Given the description of an element on the screen output the (x, y) to click on. 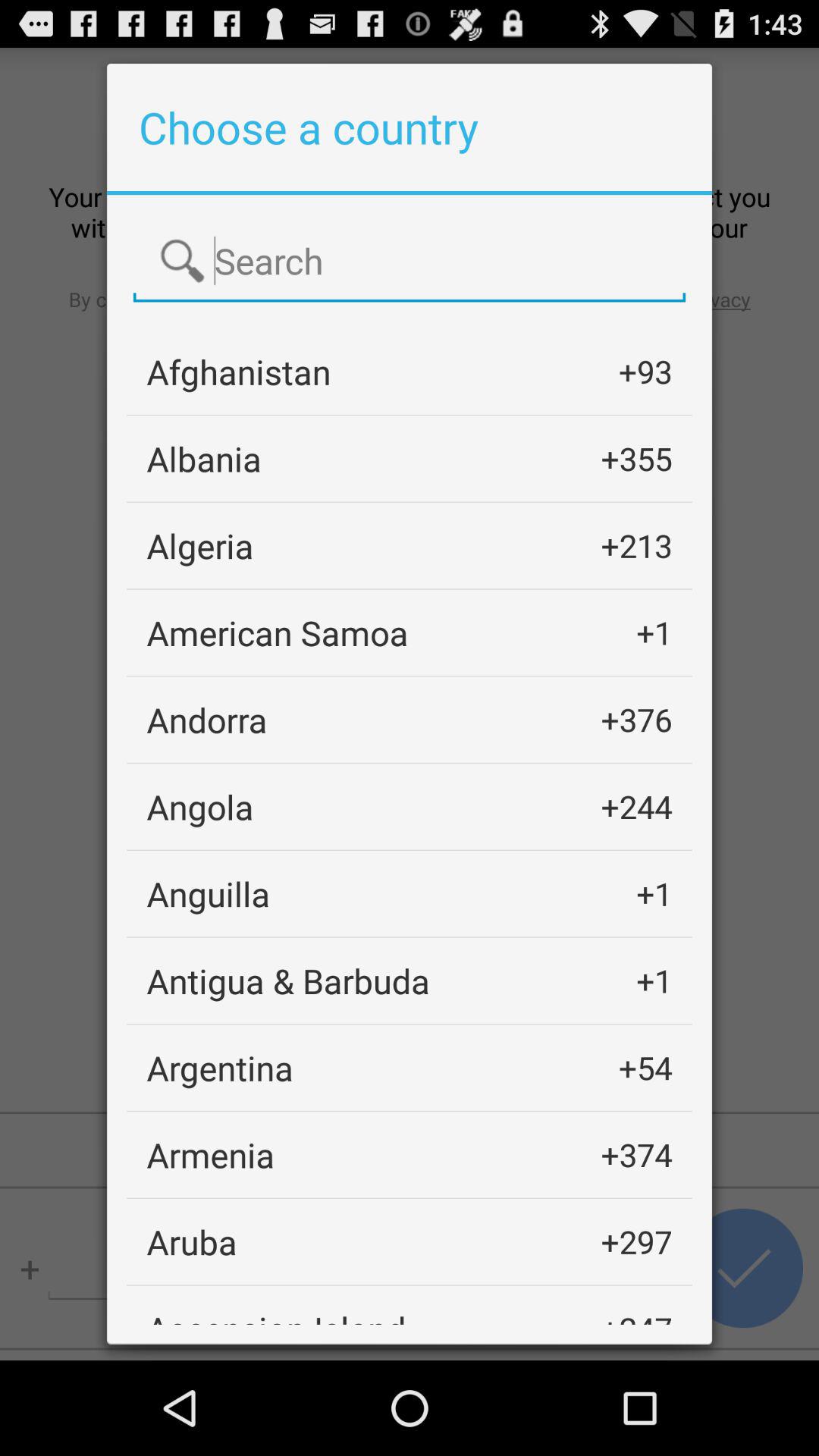
turn on app next to the armenia icon (636, 1154)
